Given the description of an element on the screen output the (x, y) to click on. 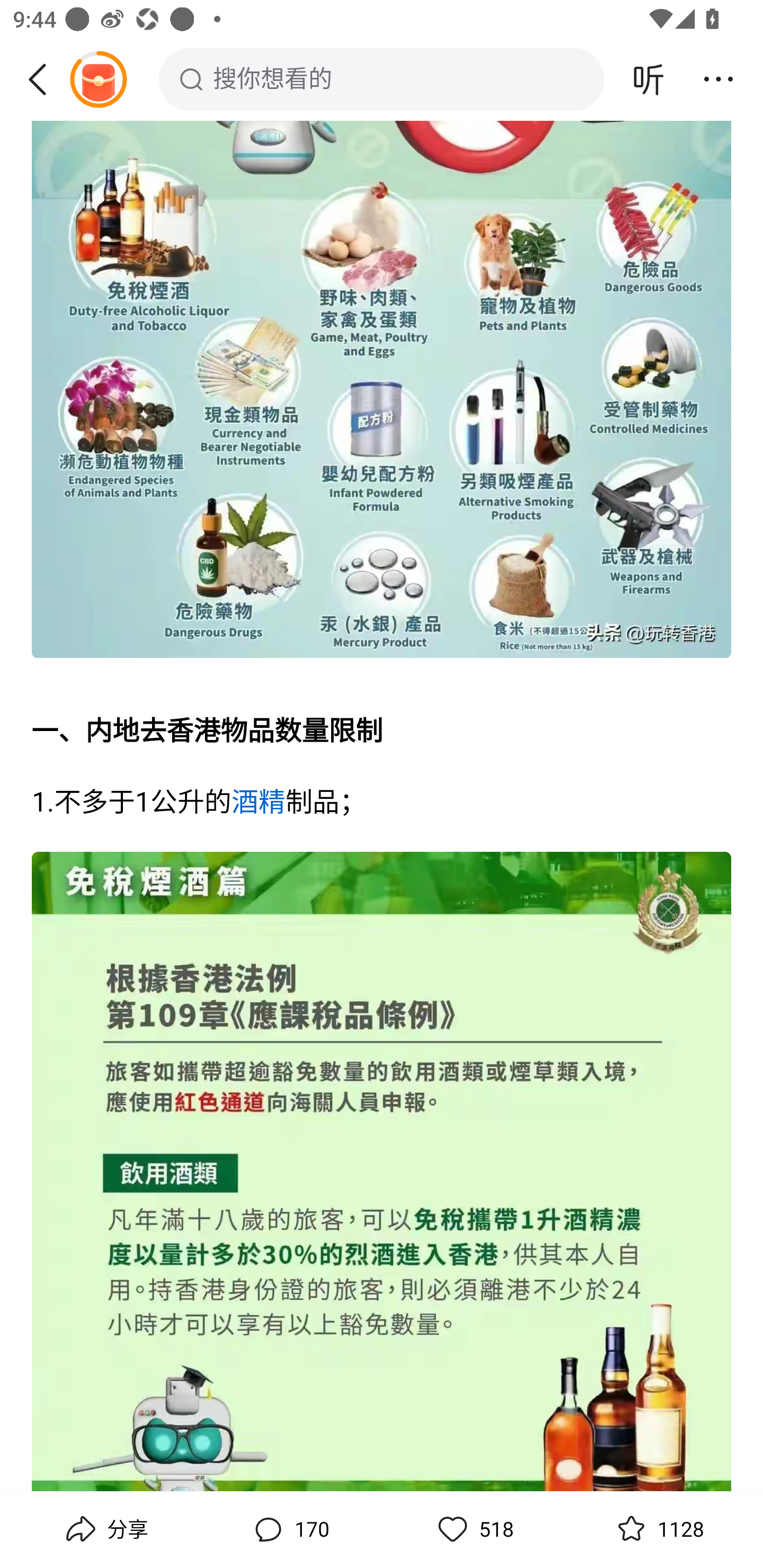
返回 (44, 78)
听头条 (648, 78)
更多操作 (718, 78)
搜你想看的 搜索框，搜你想看的 (381, 79)
阅读赚金币 (98, 79)
图片，点击识别内容 (381, 391)
酒精 (258, 804)
图片，点击识别内容 (381, 1171)
分享 (104, 1529)
评论,170 170 (288, 1529)
收藏,1128 1128 (658, 1529)
